Given the description of an element on the screen output the (x, y) to click on. 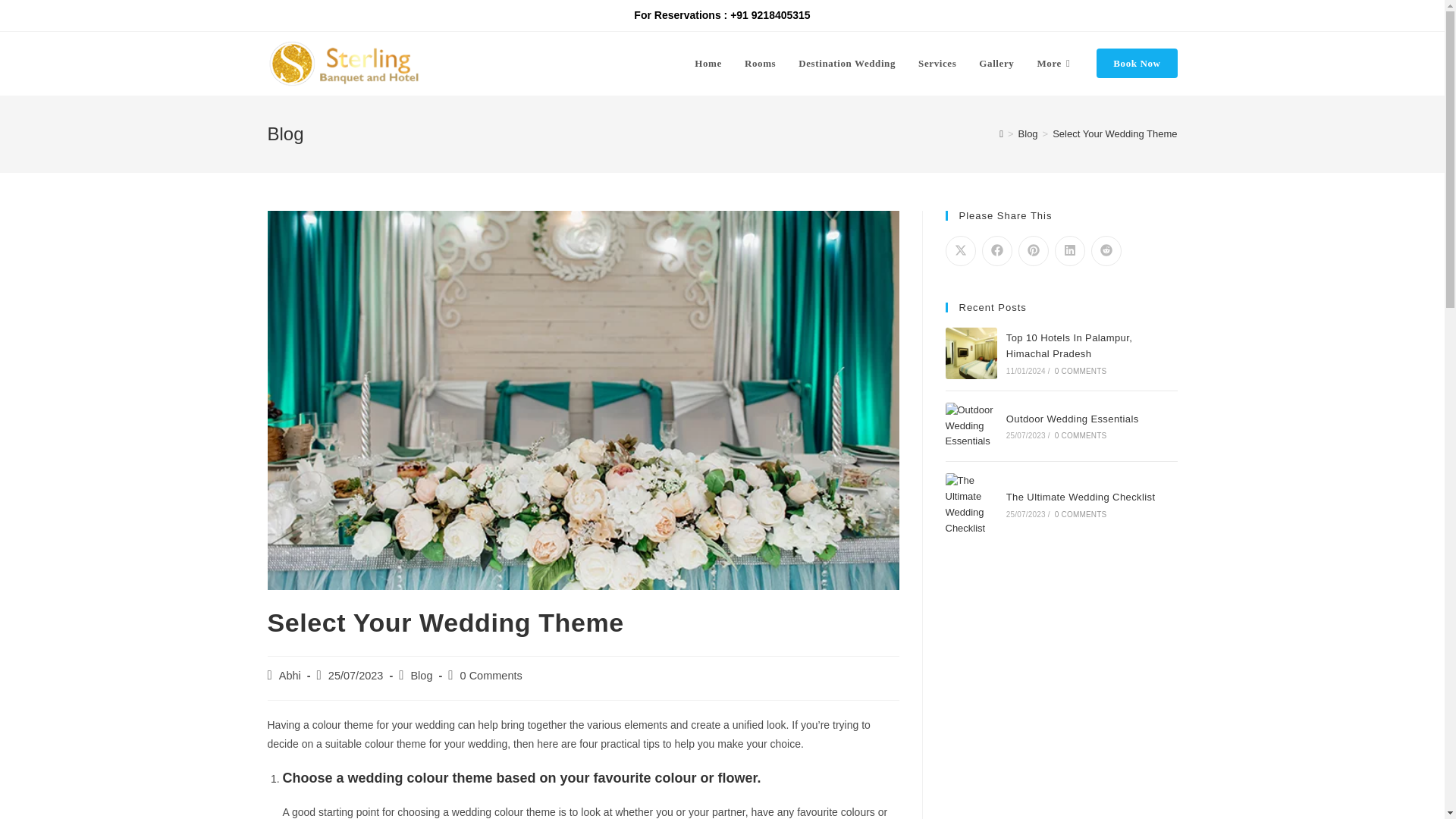
Top 10 Hotels In Palampur, Himachal Pradesh (1069, 345)
Outdoor Wedding Essentials (969, 425)
Rooms (760, 63)
Abhi (290, 675)
The Ultimate Wedding Checklist (1081, 496)
Posts by Abhi (290, 675)
Select Your Wedding Theme (1114, 133)
Home (707, 63)
0 Comments (491, 675)
Share on X (959, 250)
0 COMMENTS (1080, 435)
0 COMMENTS (1080, 370)
Book Now (1136, 63)
Services (937, 63)
Blog (1027, 133)
